Given the description of an element on the screen output the (x, y) to click on. 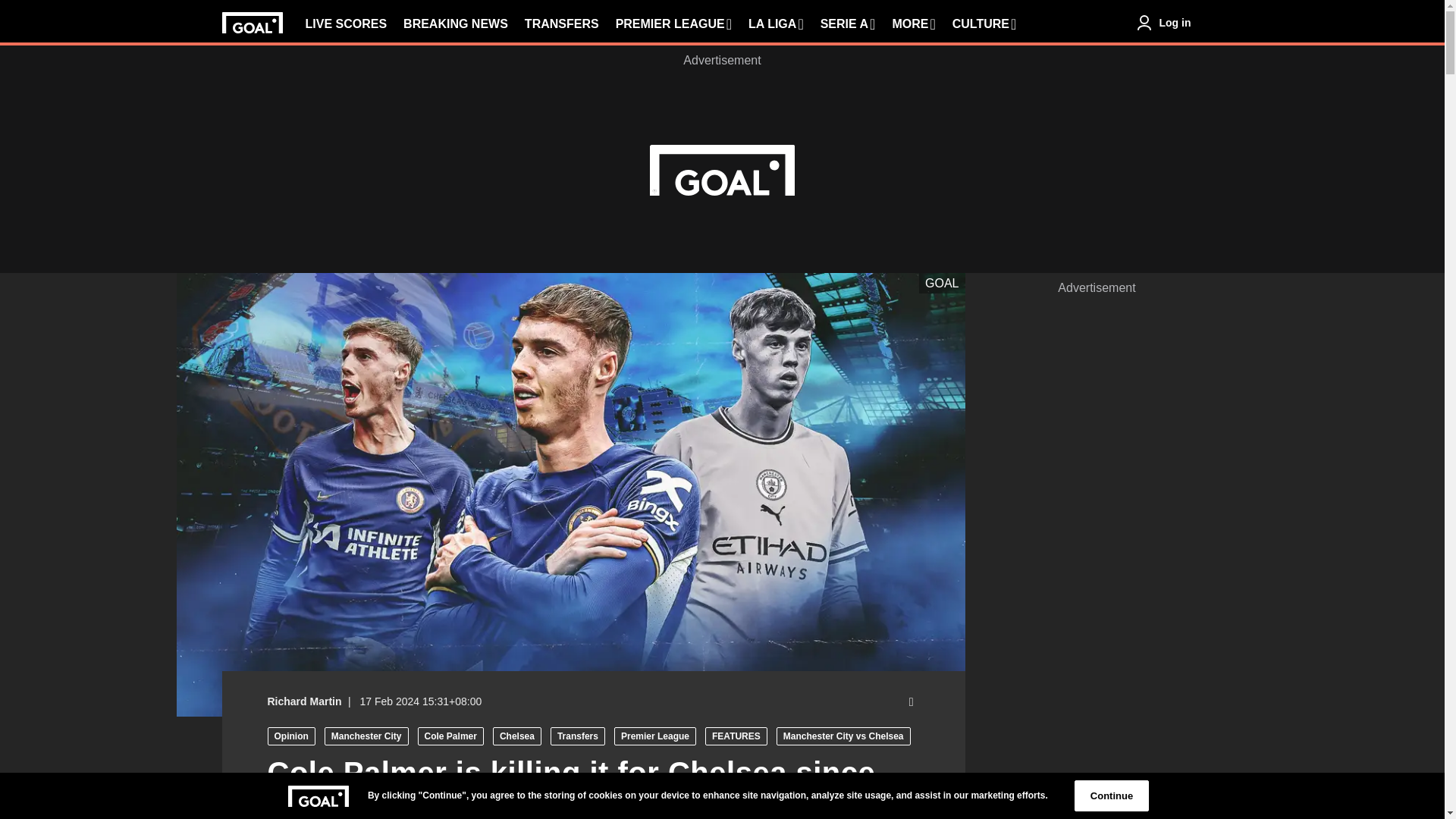
Opinion (290, 736)
Premier League (654, 736)
SERIE A (848, 23)
FEATURES (735, 736)
BREAKING NEWS (455, 23)
Manchester City vs Chelsea (843, 736)
TRANSFERS (561, 23)
Manchester City (366, 736)
PREMIER LEAGUE (673, 23)
LIVE SCORES (345, 23)
Transfers (577, 736)
Cole Palmer (450, 736)
Chelsea (517, 736)
LA LIGA (775, 23)
